Given the description of an element on the screen output the (x, y) to click on. 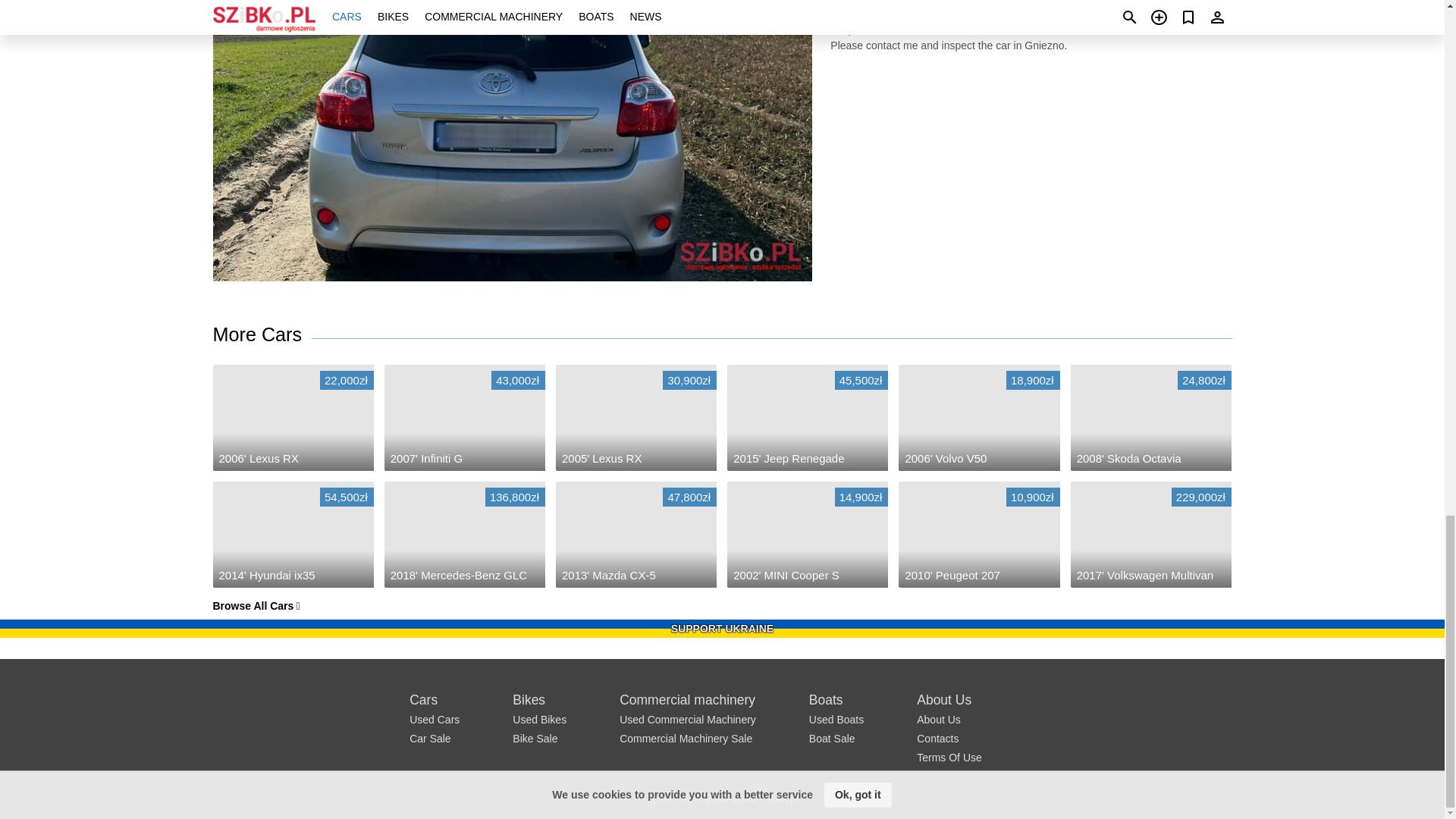
Commercial Machinery Sale (686, 738)
szbk.pl - Poland (666, 797)
Used Cars (434, 719)
More Cars (261, 335)
Browse All Cars (255, 605)
Used Bikes (539, 719)
Used Boats (836, 719)
Contacts (937, 738)
Boat Sale (832, 738)
Car Sale (429, 738)
Bike Sale (534, 738)
Used Commercial Machinery (687, 719)
About Us (938, 719)
